Given the description of an element on the screen output the (x, y) to click on. 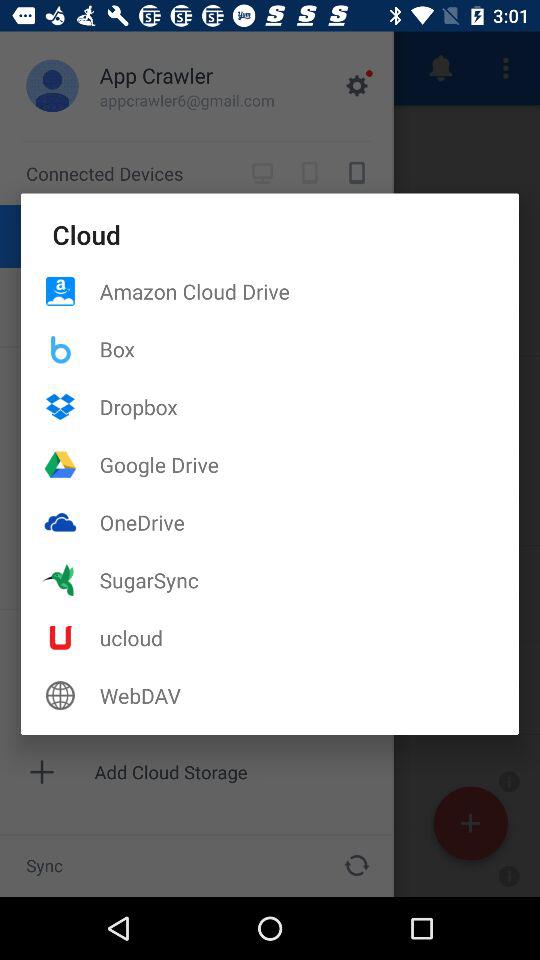
turn off the item at the bottom (309, 695)
